Given the description of an element on the screen output the (x, y) to click on. 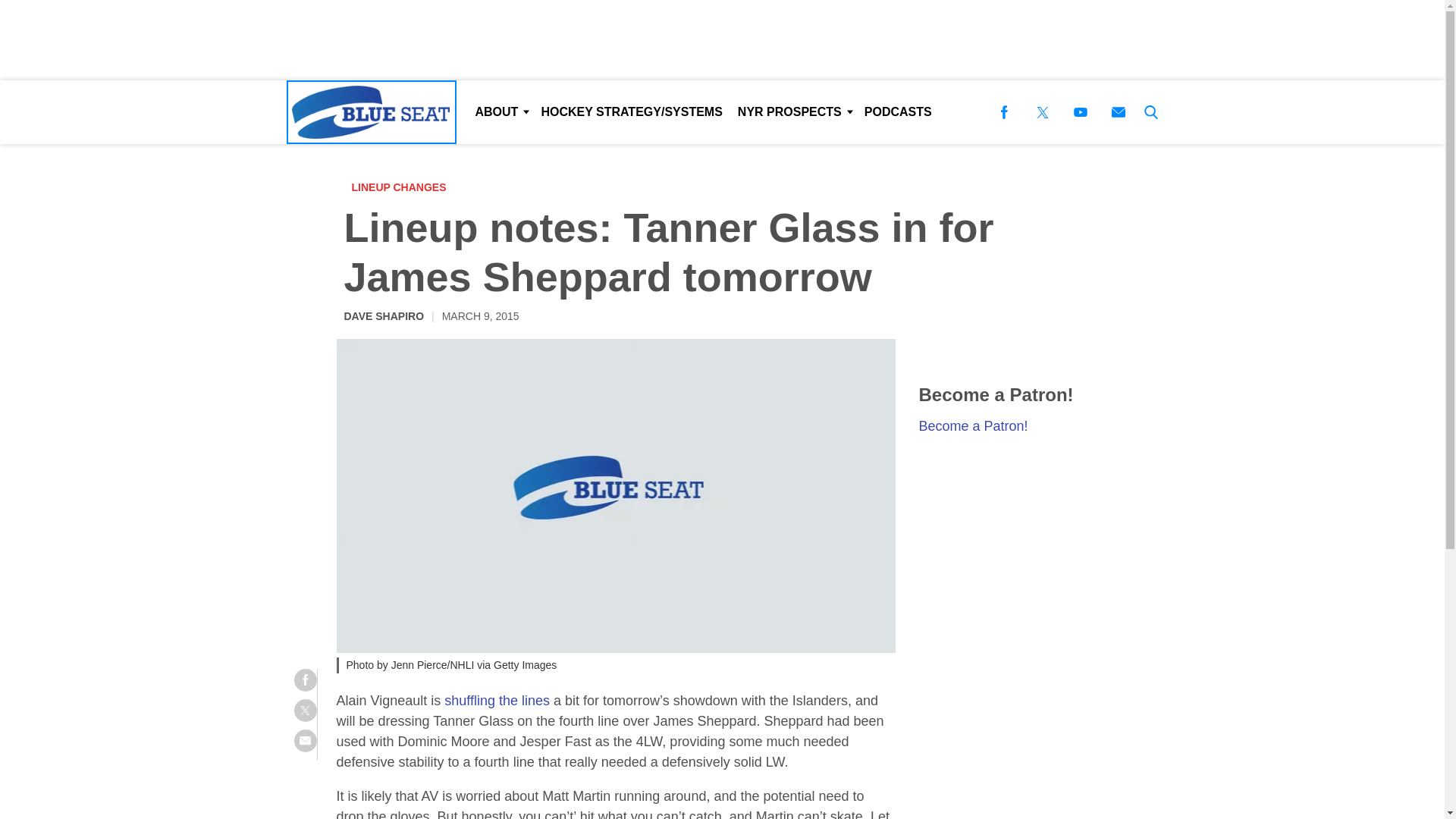
Become a Patron! (972, 426)
PODCASTS (898, 112)
Share via Email (305, 740)
ABOUT (499, 112)
Posts by Dave Shapiro (384, 315)
shuffling the lines (497, 700)
Share on Facebook (305, 680)
DAVE SHAPIRO (384, 315)
Share on Twitter (305, 710)
NYR PROSPECTS (793, 112)
